Given the description of an element on the screen output the (x, y) to click on. 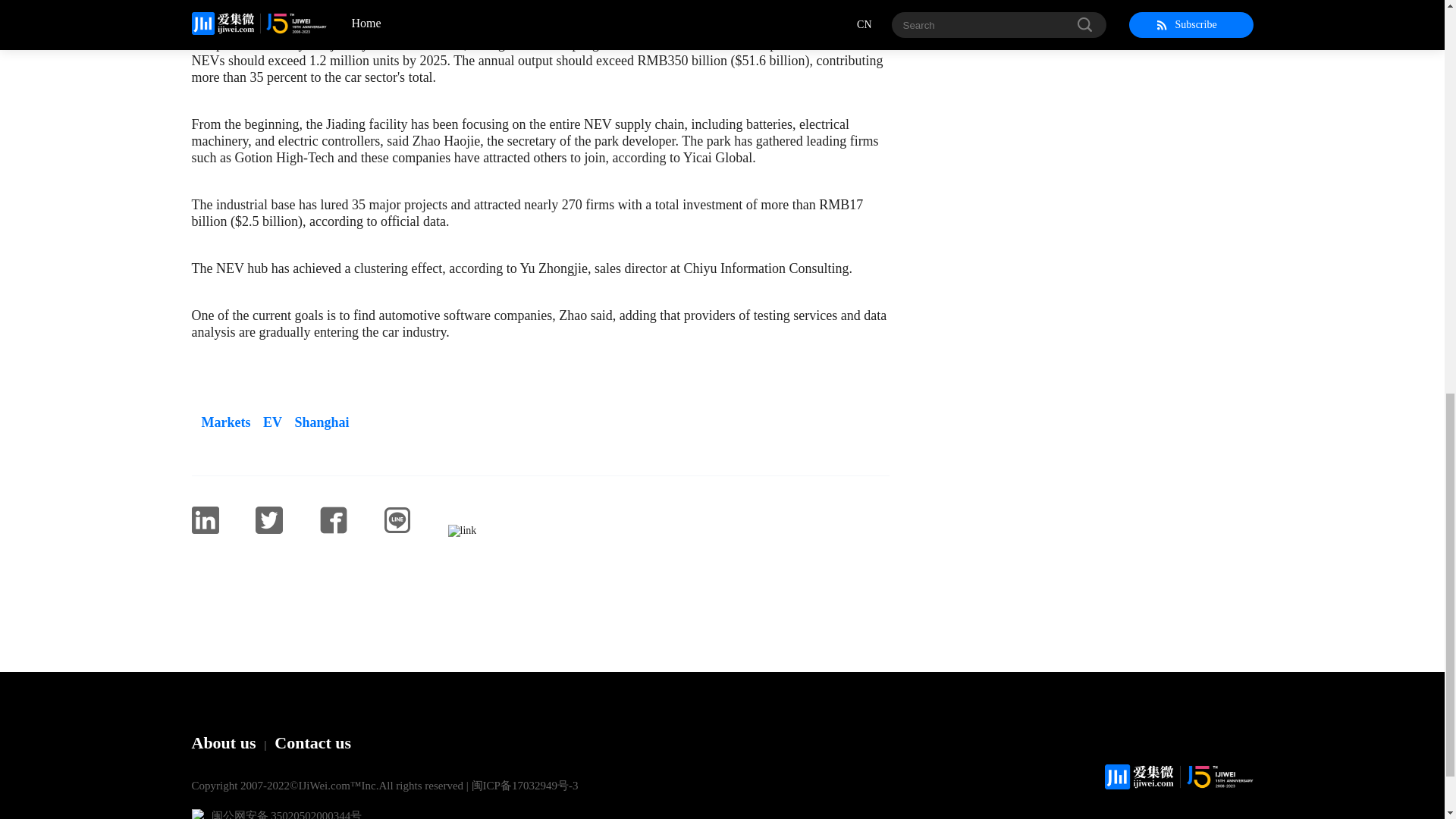
Shanghai (317, 421)
Contact us (312, 742)
EV (267, 421)
Markets (220, 421)
About us (223, 742)
